Given the description of an element on the screen output the (x, y) to click on. 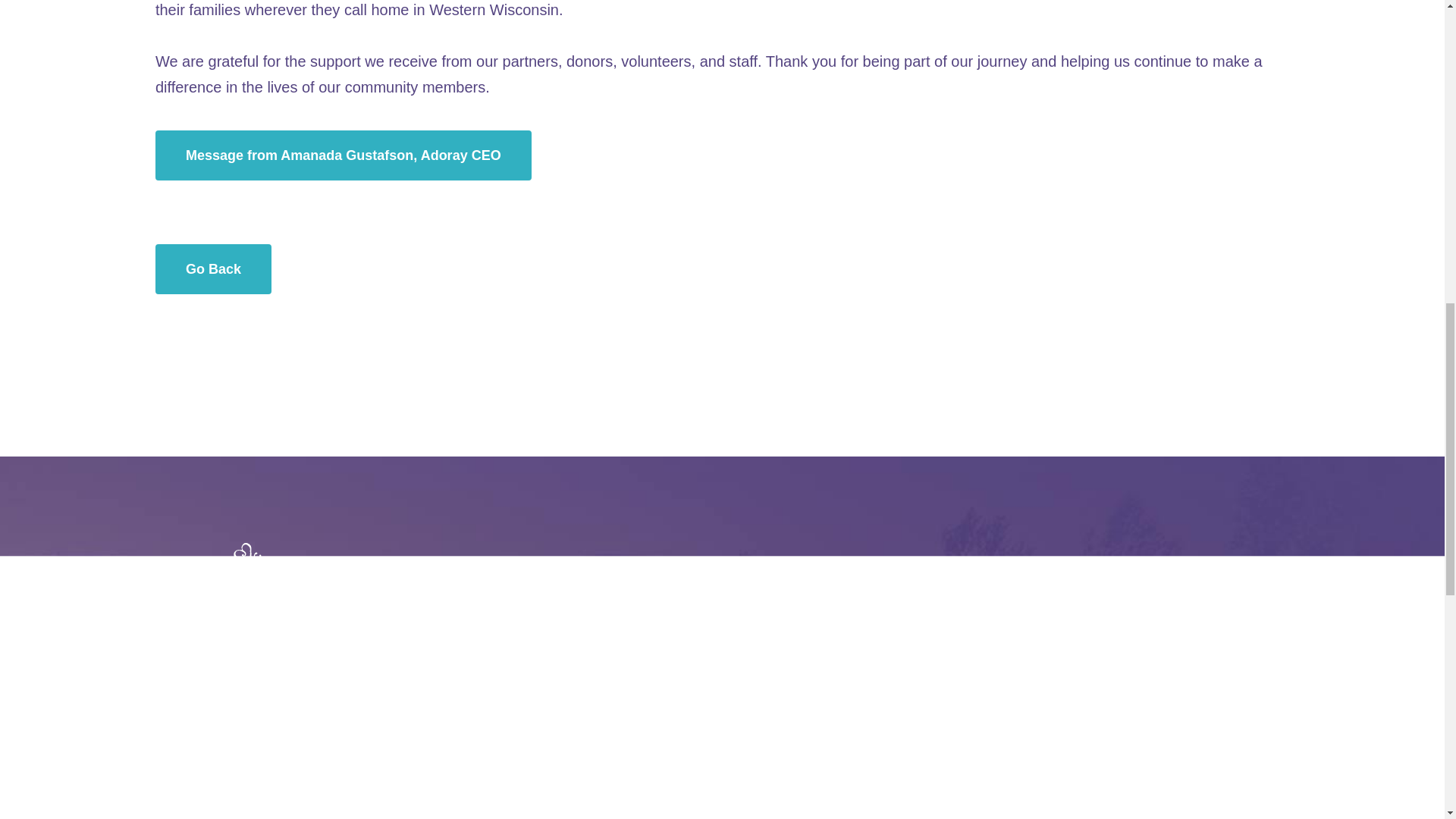
Message from Amanada Gustafson, Adoray CEO (343, 155)
Treasures Stores (518, 745)
Go Back (212, 269)
Volunteer (753, 712)
Donate (745, 745)
News (480, 712)
Refer a Patient (769, 679)
Hospice Care (245, 679)
Grief Support (245, 805)
Events (484, 679)
